Given the description of an element on the screen output the (x, y) to click on. 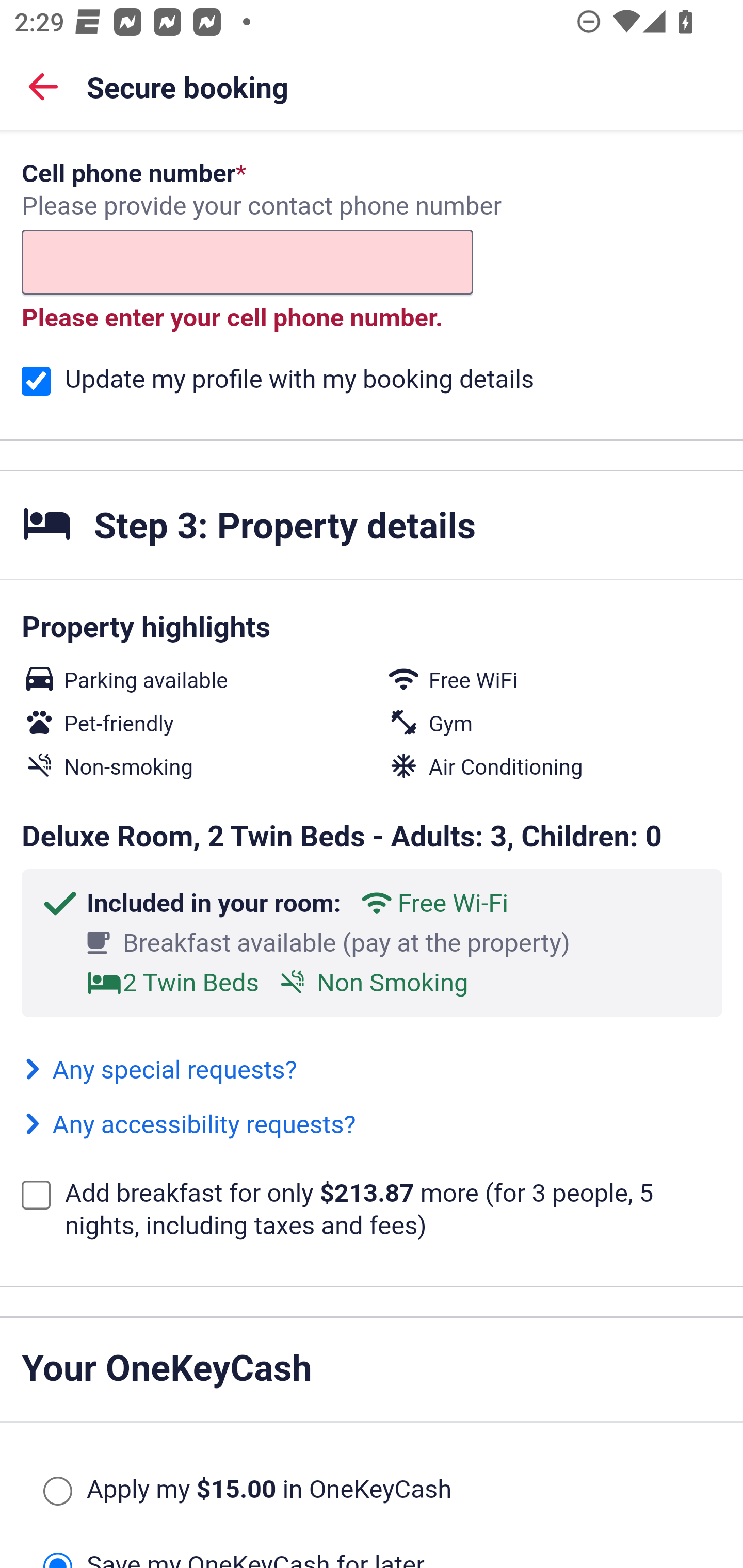
Back (43, 86)
Update my profile with my booking details (36, 381)
Any special requests? (159, 1070)
Any accessibility requests? (189, 1125)
Apply my $15.00 in OneKeyCash (57, 1491)
